Given the description of an element on the screen output the (x, y) to click on. 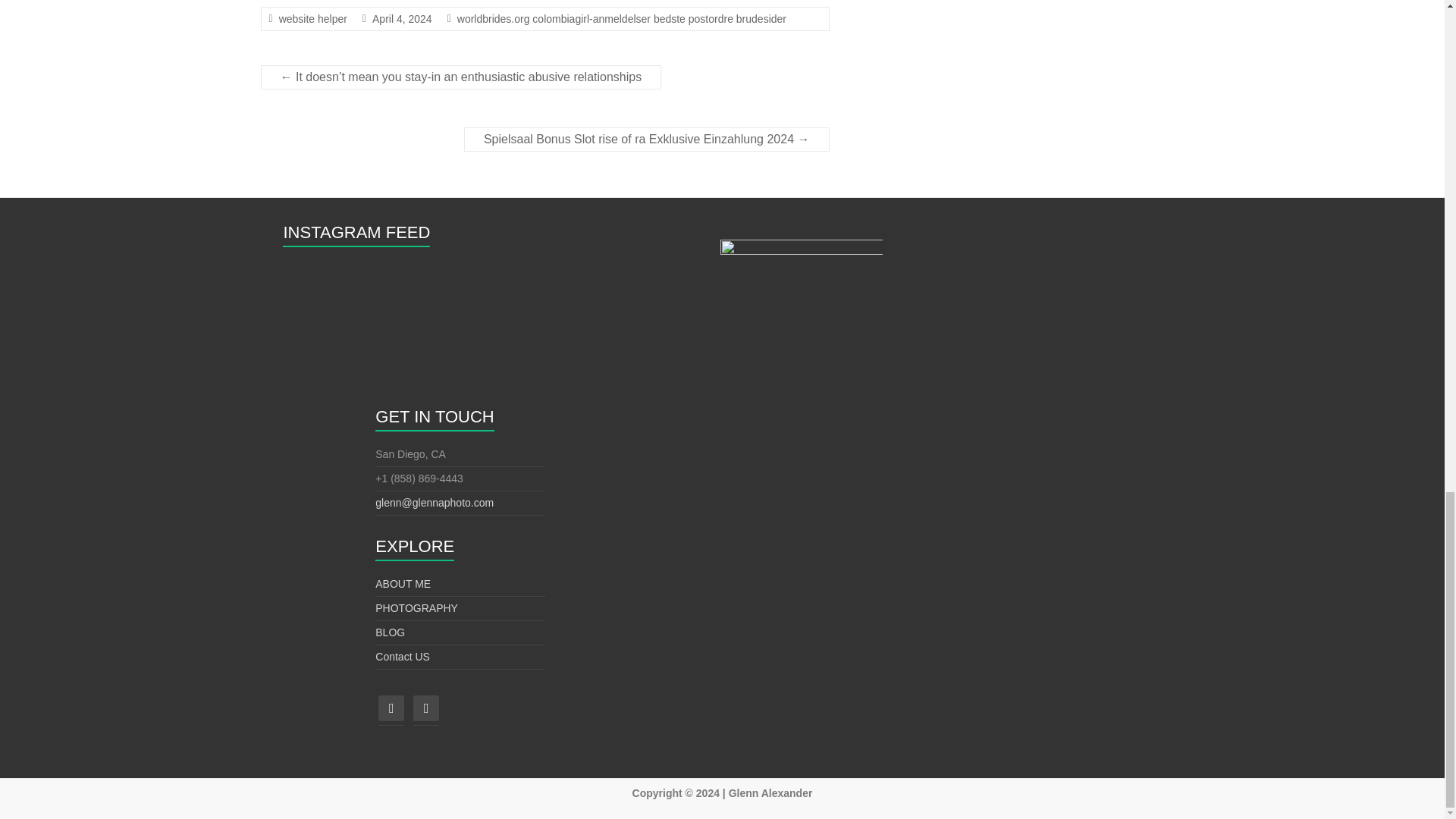
ABOUT ME (402, 583)
April 4, 2024 (402, 19)
Contact US (402, 656)
PHOTOGRAPHY (416, 607)
10:05 am (402, 19)
website helper (313, 19)
BLOG (389, 632)
